Given the description of an element on the screen output the (x, y) to click on. 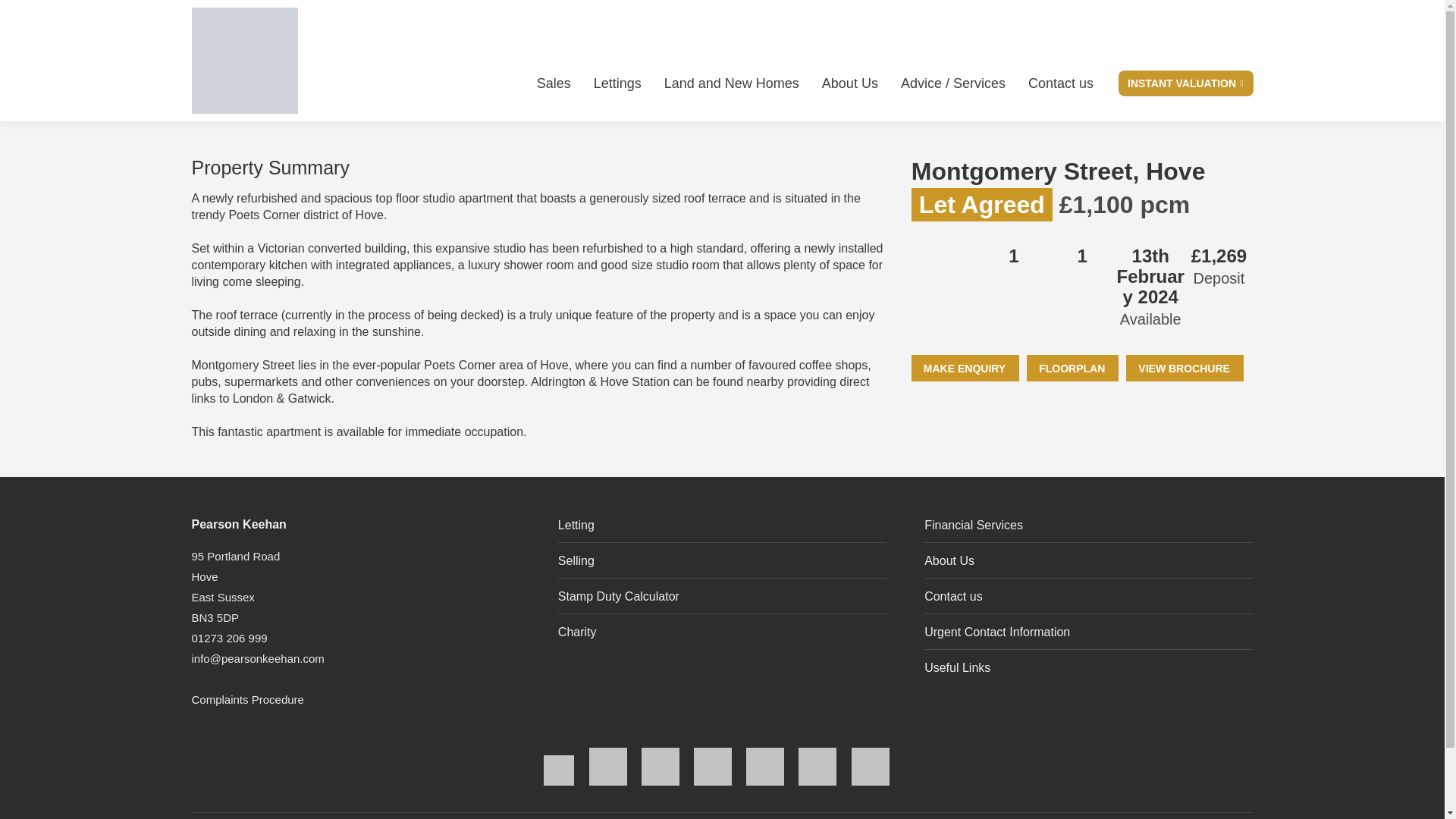
Land and New Homes (731, 83)
INSTANT VALUATION (1185, 83)
FLOORPLAN (1072, 367)
Lettings (617, 83)
Contact us (1060, 83)
VIEW BROCHURE (1184, 367)
About Us (849, 83)
MAKE ENQUIRY (965, 367)
Complaints Procedure (246, 698)
